Given the description of an element on the screen output the (x, y) to click on. 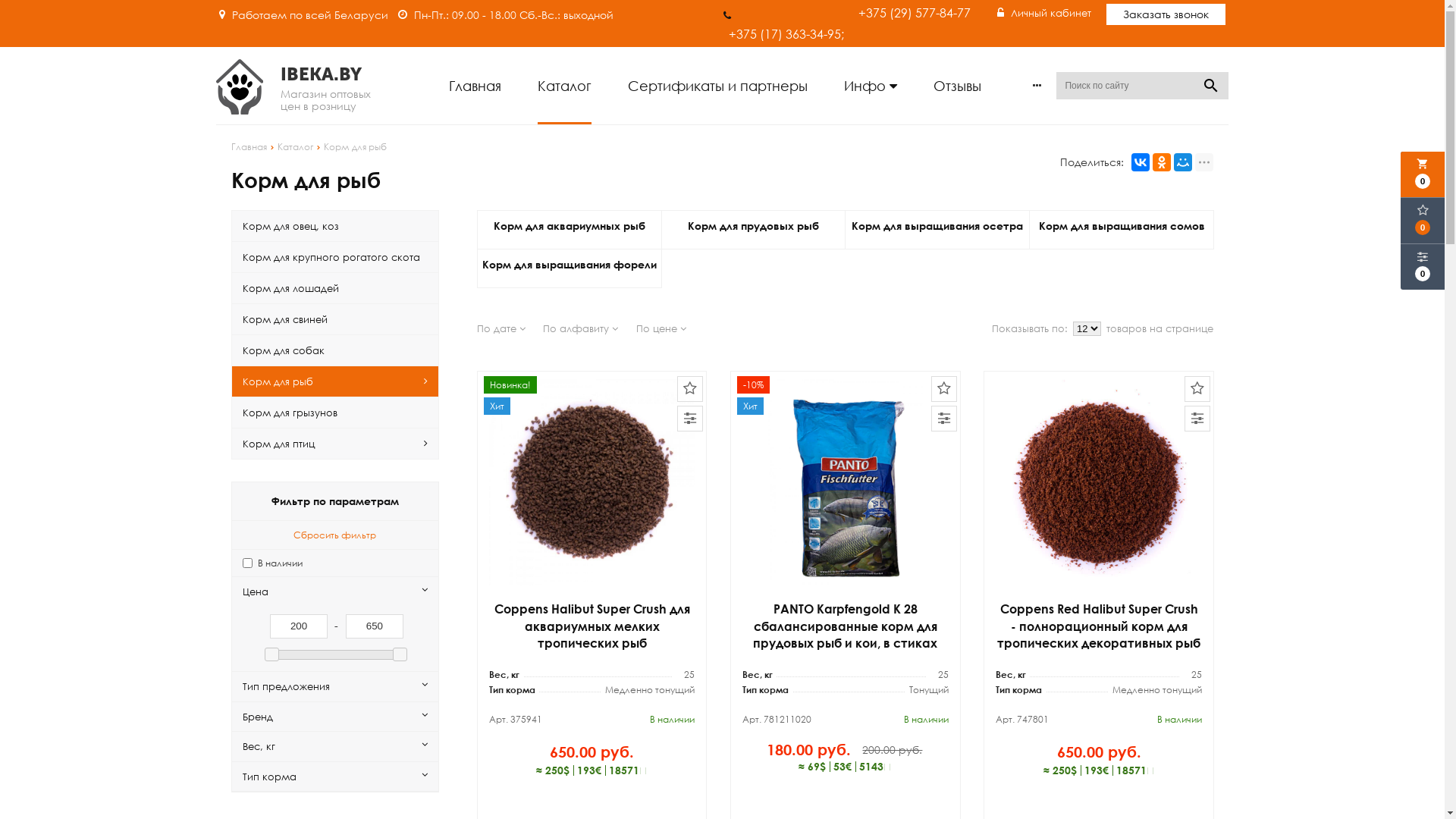
+375 (17) 363-34-95; Element type: text (786, 23)
search Element type: text (1211, 85)
0 Element type: text (1422, 266)
local_grocery_store
0 Element type: text (1422, 174)
0 Element type: text (1422, 220)
+375 (29) 577-84-77 Element type: text (914, 12)
